Given the description of an element on the screen output the (x, y) to click on. 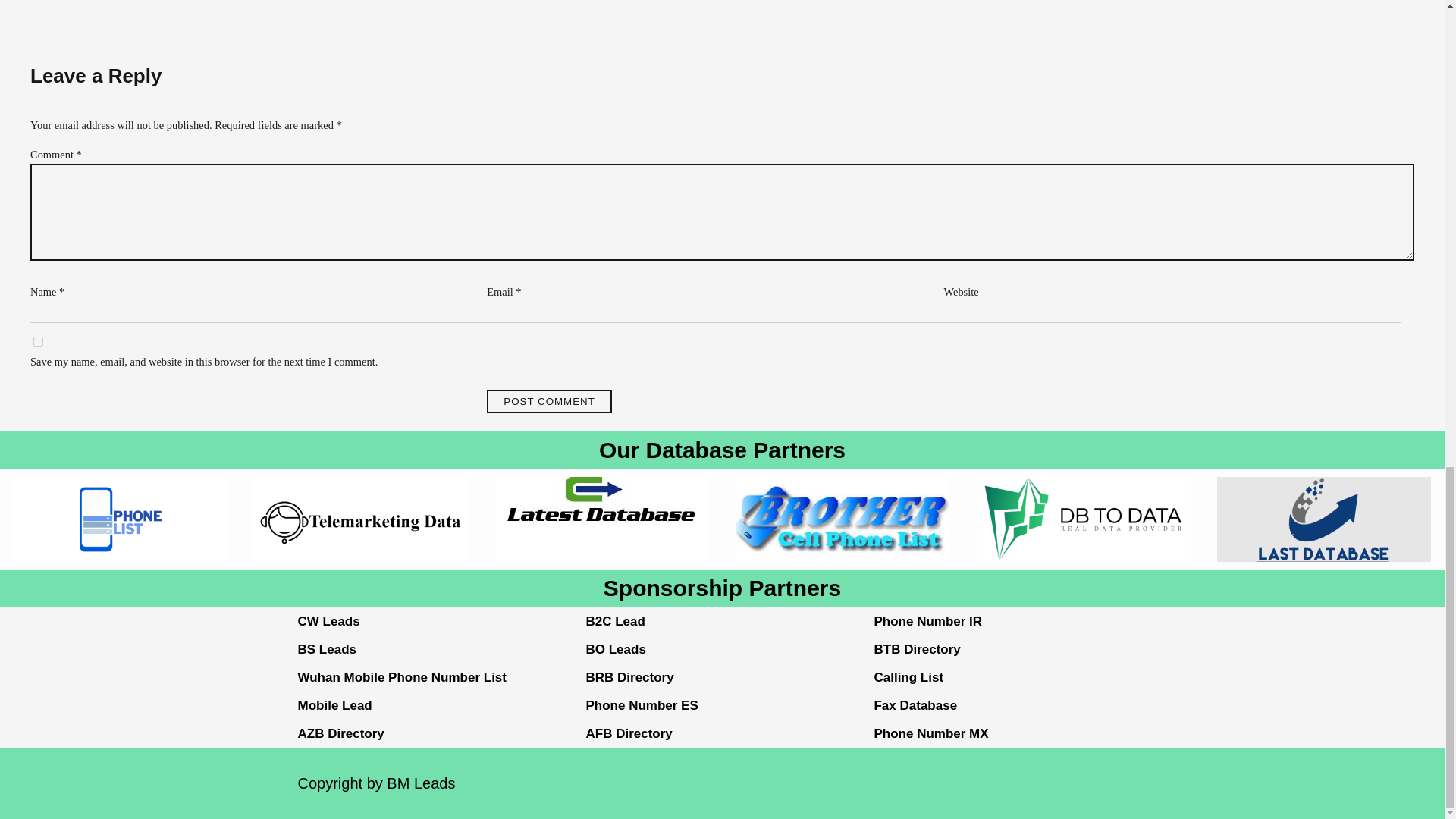
Mobile Lead (334, 705)
AZB Directory (340, 733)
BS Leads (326, 649)
B2C Lead (615, 621)
Wuhan Mobile Phone Number List (401, 677)
Post Comment (548, 401)
CW Leads (328, 621)
BO Leads (615, 649)
Post Comment (548, 401)
yes (38, 341)
